Given the description of an element on the screen output the (x, y) to click on. 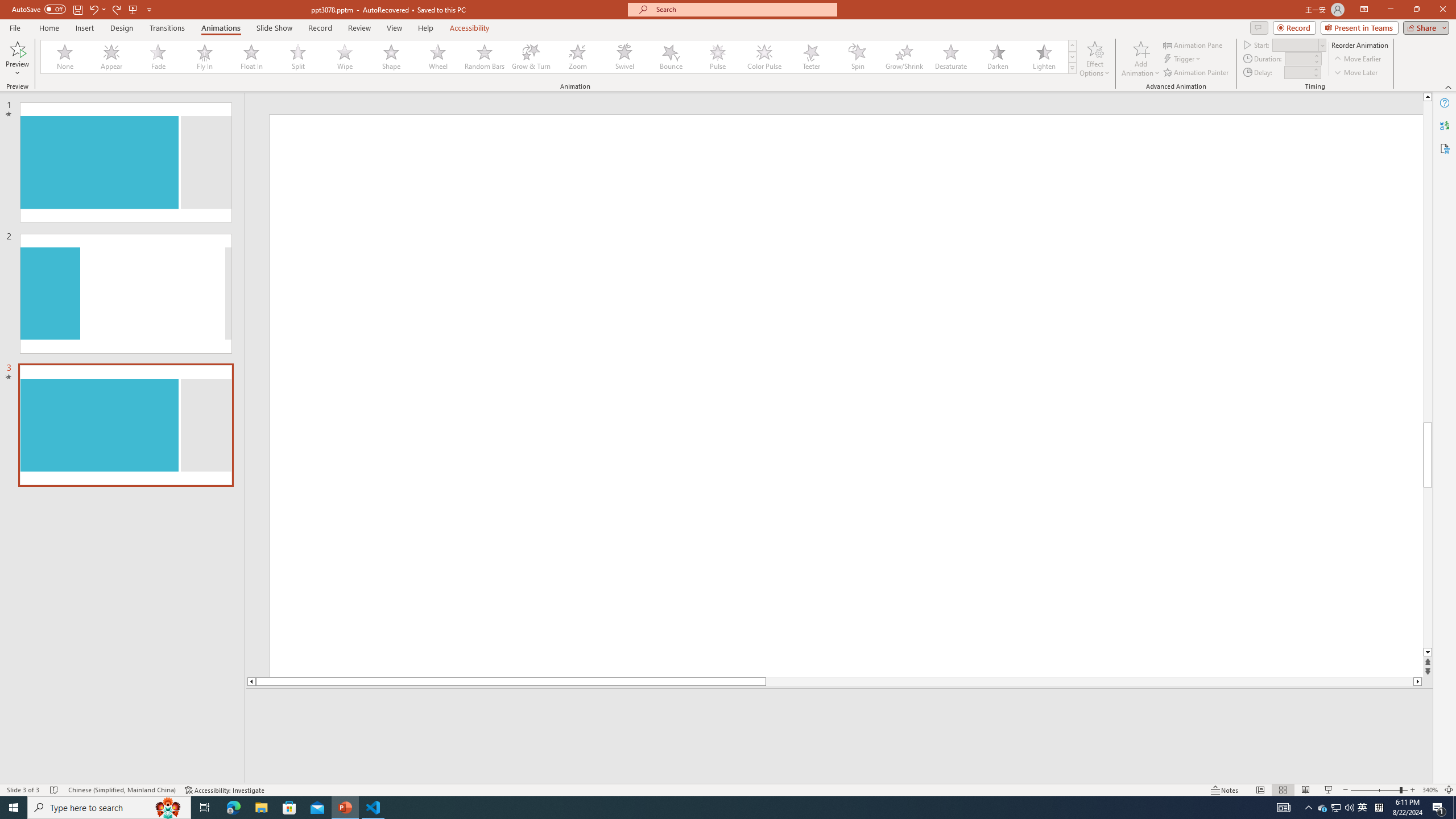
None (65, 56)
Fly In (205, 56)
Desaturate (950, 56)
Lighten (1043, 56)
Add Animation (1141, 58)
Animation Delay (1297, 72)
Trigger (1182, 58)
